Given the description of an element on the screen output the (x, y) to click on. 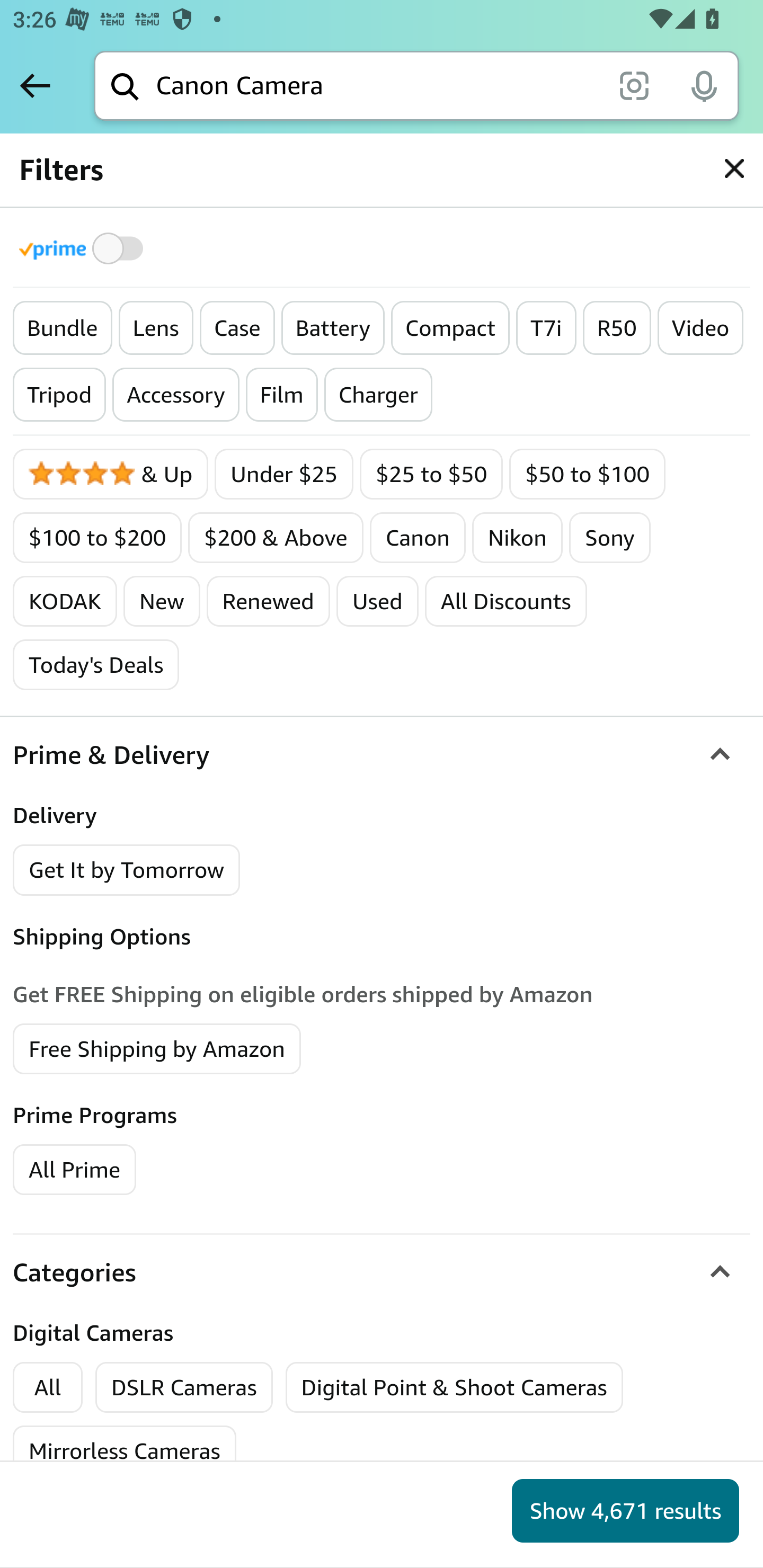
Back (35, 85)
scan it (633, 85)
Toggle to filter by Prime products Prime Eligible (83, 247)
Bundle (62, 328)
Lens (155, 328)
Case (236, 328)
Battery (332, 328)
Compact (449, 328)
T7i (545, 328)
R50 (616, 328)
Video (699, 328)
Tripod (59, 394)
Accessory (175, 394)
Film (281, 394)
Charger (377, 394)
4 Stars & Up (110, 474)
Under $25 (284, 474)
$25 to $50 (431, 474)
$50 to $100 (587, 474)
$100 to $200 (97, 537)
$200 & Above (275, 537)
Canon (417, 537)
Nikon (517, 537)
Sony (609, 537)
KODAK (64, 601)
New (160, 601)
Renewed (267, 601)
Used (377, 601)
All Discounts (506, 601)
Today's Deals (95, 664)
Prime & Delivery (381, 755)
Mute Sponsored Video (721, 774)
Free Shipping by Amazon (157, 1048)
All Prime (74, 1168)
Categories (381, 1271)
All (47, 1387)
DSLR Cameras (184, 1387)
Digital Point & Shoot Cameras (453, 1387)
Mirrorless Cameras (124, 1451)
Show 4,671 results (625, 1510)
